Given the description of an element on the screen output the (x, y) to click on. 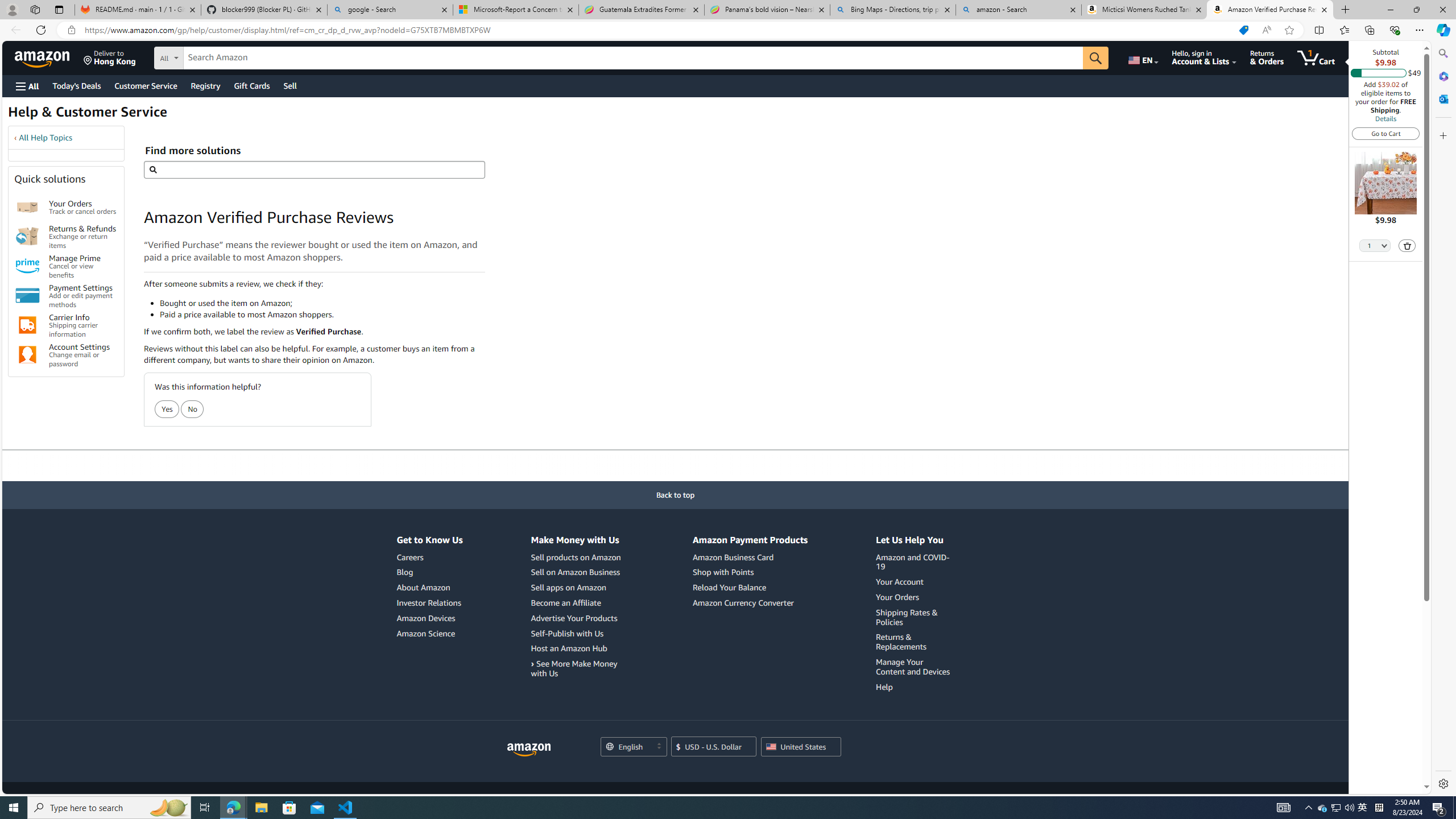
Advertise Your Products (573, 617)
Registry (205, 85)
Host an Amazon Hub (576, 648)
Blog (429, 572)
Carrier Info (27, 325)
Amazon Currency Converter (749, 602)
Deliver to Hong Kong (109, 57)
Payment Settings (27, 295)
$ USD - U.S. Dollar (714, 746)
Quantity Selector (1374, 245)
Amazon Science (429, 633)
Your Orders (27, 207)
